Given the description of an element on the screen output the (x, y) to click on. 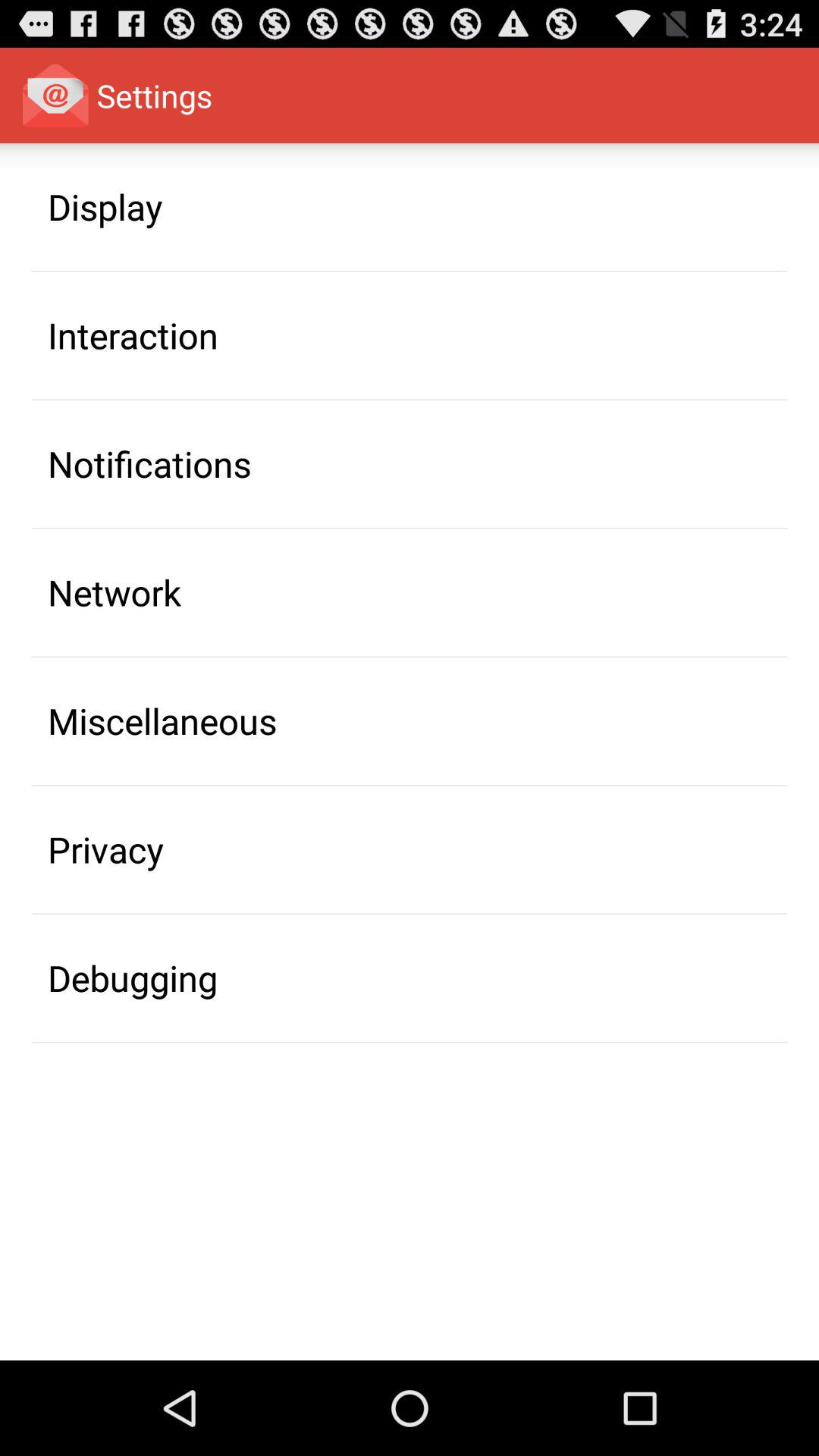
choose the item above miscellaneous app (114, 592)
